Given the description of an element on the screen output the (x, y) to click on. 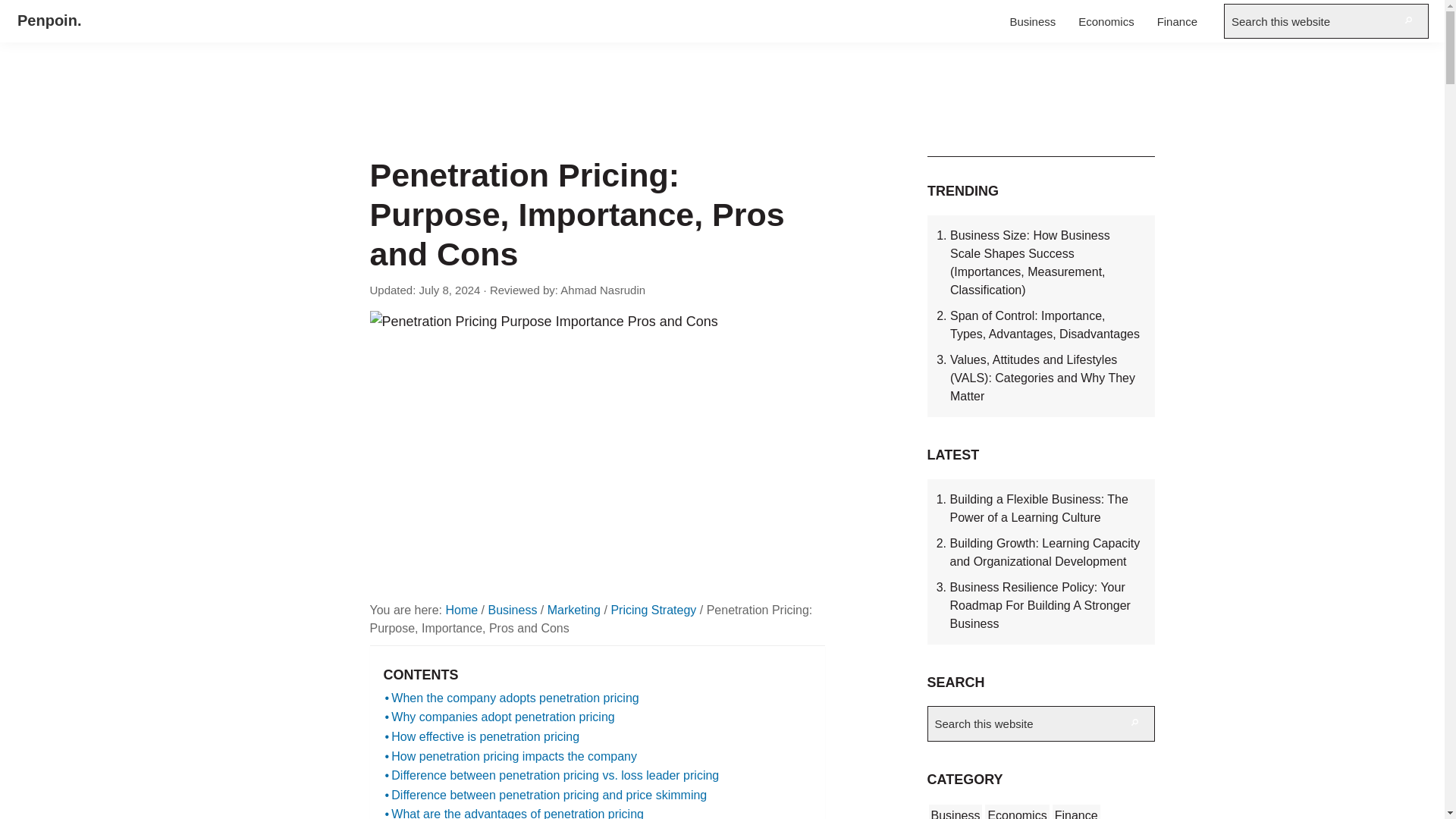
Economics (1105, 21)
Penpoin. (49, 20)
Difference between penetration pricing and price skimming (546, 795)
Why companies adopt penetration pricing (499, 717)
What are the advantages of penetration pricing (514, 811)
How penetration pricing impacts the company (511, 756)
What are the advantages of penetration pricing (514, 811)
Pricing Strategy (652, 609)
How effective is penetration pricing (482, 736)
How penetration pricing impacts the company (511, 756)
Finance (1176, 21)
Home (461, 609)
How effective is penetration pricing (482, 736)
